Given the description of an element on the screen output the (x, y) to click on. 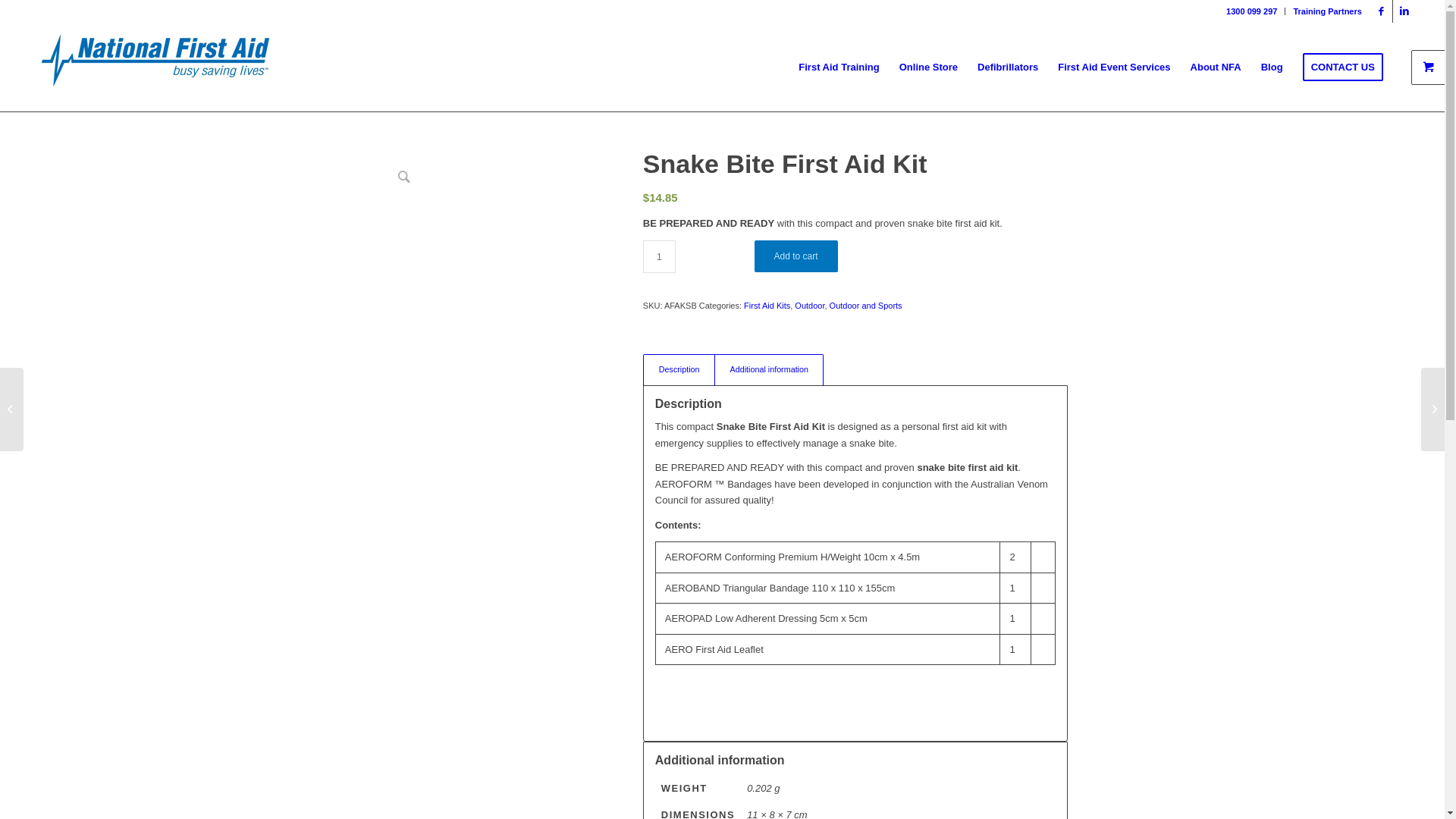
Blog Element type: text (1271, 67)
Outdoor Element type: text (809, 305)
Training Partners Element type: text (1326, 11)
Description Element type: text (679, 369)
First Aid Kits Element type: text (766, 305)
Add to cart Element type: text (795, 256)
LinkedIn Element type: hover (1404, 11)
About NFA Element type: text (1215, 67)
1300 099 297 Element type: text (1251, 11)
Facebook Element type: hover (1381, 11)
Defibrillators Element type: text (1007, 67)
Qty Element type: hover (659, 256)
First Aid Event Services Element type: text (1113, 67)
Outdoor and Sports Element type: text (865, 305)
Online Store Element type: text (928, 67)
CONTACT US Element type: text (1342, 67)
Additional information Element type: text (768, 369)
First Aid Training Element type: text (838, 67)
